Given the description of an element on the screen output the (x, y) to click on. 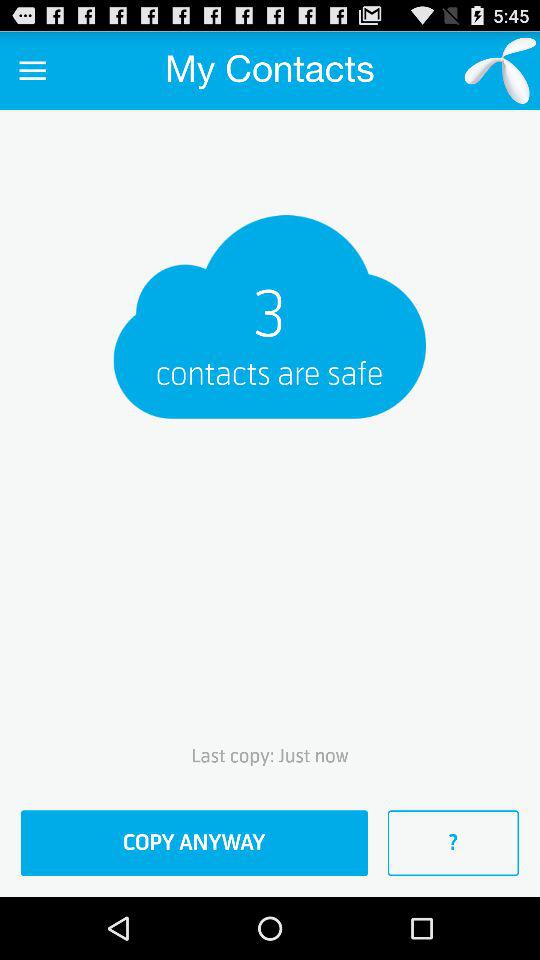
select icon to the left of  ?  item (194, 843)
